Given the description of an element on the screen output the (x, y) to click on. 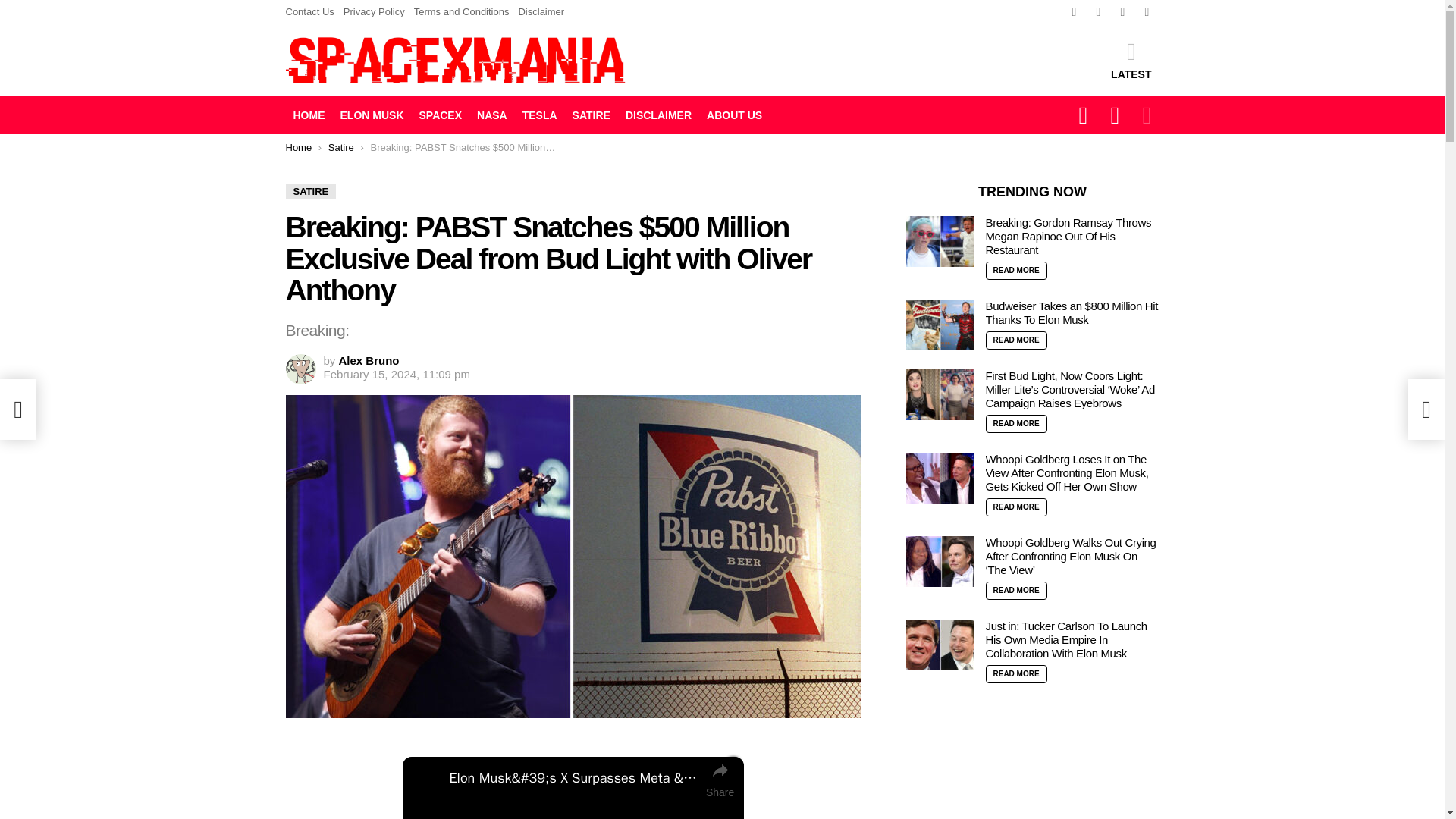
SATIRE (310, 191)
Twitter (1097, 11)
ELON MUSK (370, 115)
SPACEX (439, 115)
Alex Bruno (368, 359)
DISCLAIMER (657, 115)
LATEST (1130, 59)
SATIRE (590, 115)
YouTube (1146, 11)
NASA (491, 115)
